Given the description of an element on the screen output the (x, y) to click on. 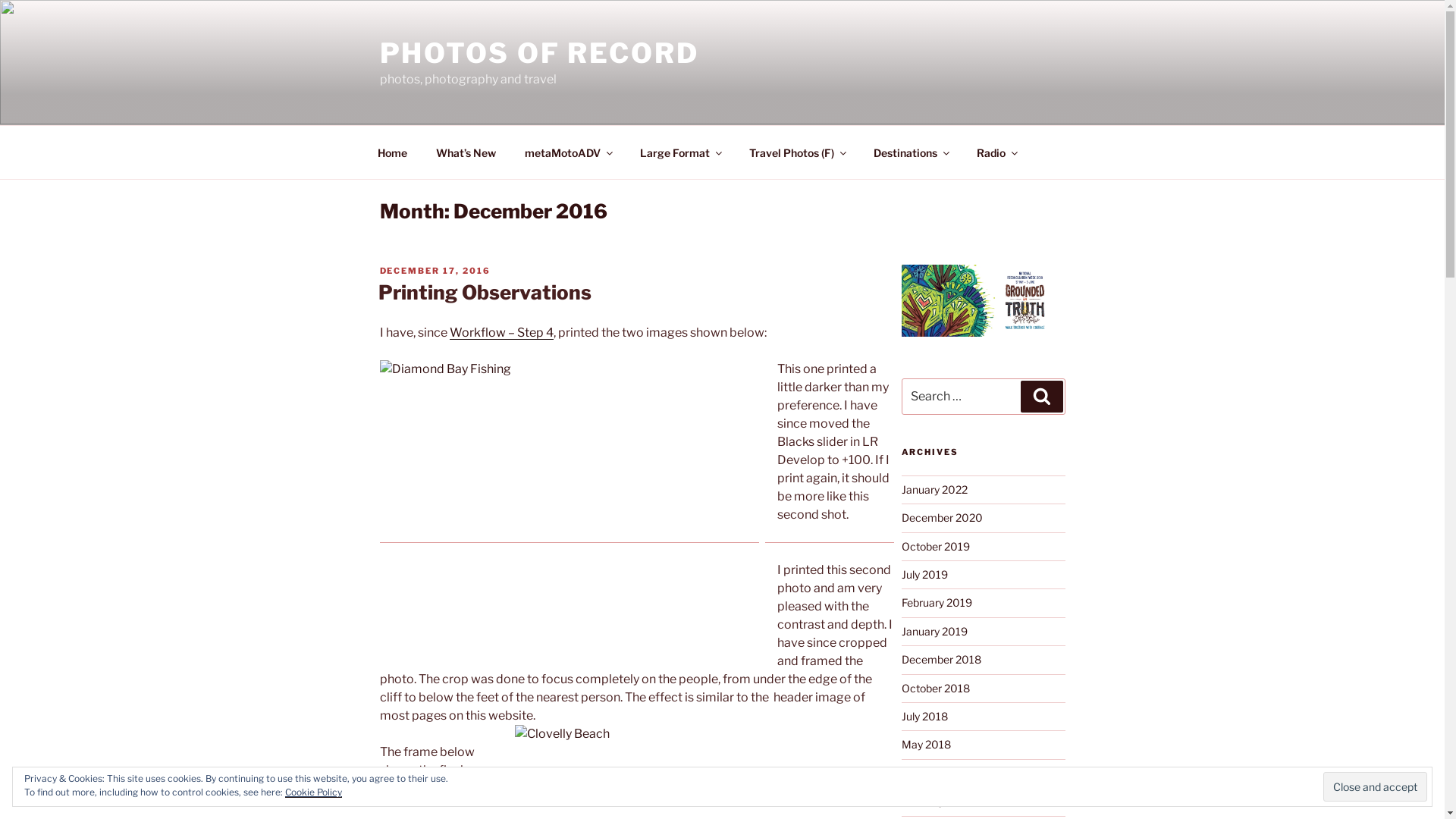
Diamond Bay Fishing Element type: hover (568, 507)
Search Element type: text (1041, 396)
March 2018 Element type: text (930, 772)
January 2022 Element type: text (933, 489)
December 2020 Element type: text (941, 517)
DECEMBER 17, 2016 Element type: text (434, 270)
Destinations Element type: text (909, 151)
July 2018 Element type: text (923, 715)
February 2019 Element type: text (935, 602)
February 2018 Element type: text (935, 800)
October 2019 Element type: text (934, 545)
Cookie Policy Element type: text (313, 791)
Large Format Element type: text (679, 151)
May 2018 Element type: text (925, 743)
December 2018 Element type: text (940, 658)
Radio Element type: text (996, 151)
Printing Observations Element type: text (483, 292)
October 2018 Element type: text (934, 687)
January 2019 Element type: text (933, 630)
PHOTOS OF RECORD Element type: text (538, 52)
Travel Photos (F) Element type: text (796, 151)
metaMotoADV Element type: text (567, 151)
July 2019 Element type: text (923, 573)
Close and accept Element type: text (1375, 786)
Home Element type: text (392, 151)
